Given the description of an element on the screen output the (x, y) to click on. 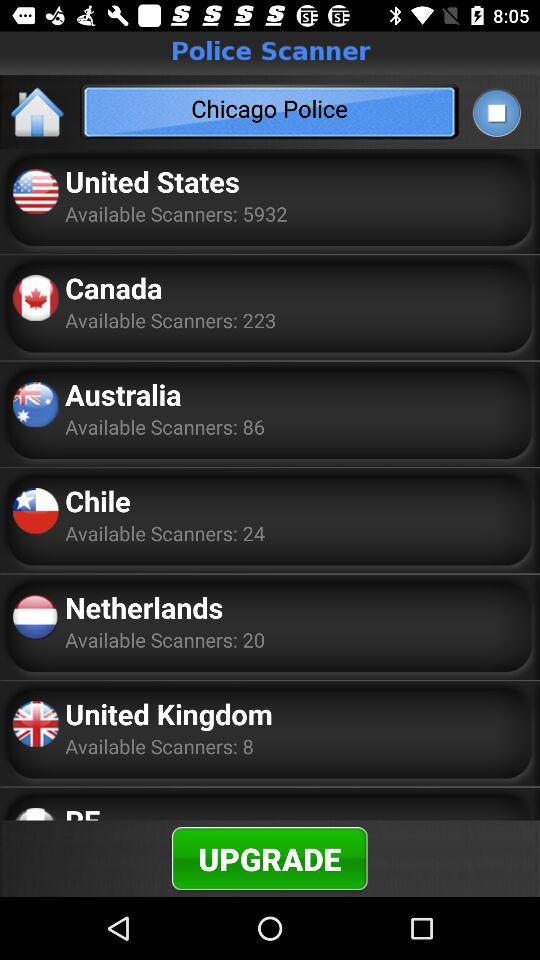
press item next to the chicago police item (38, 111)
